Given the description of an element on the screen output the (x, y) to click on. 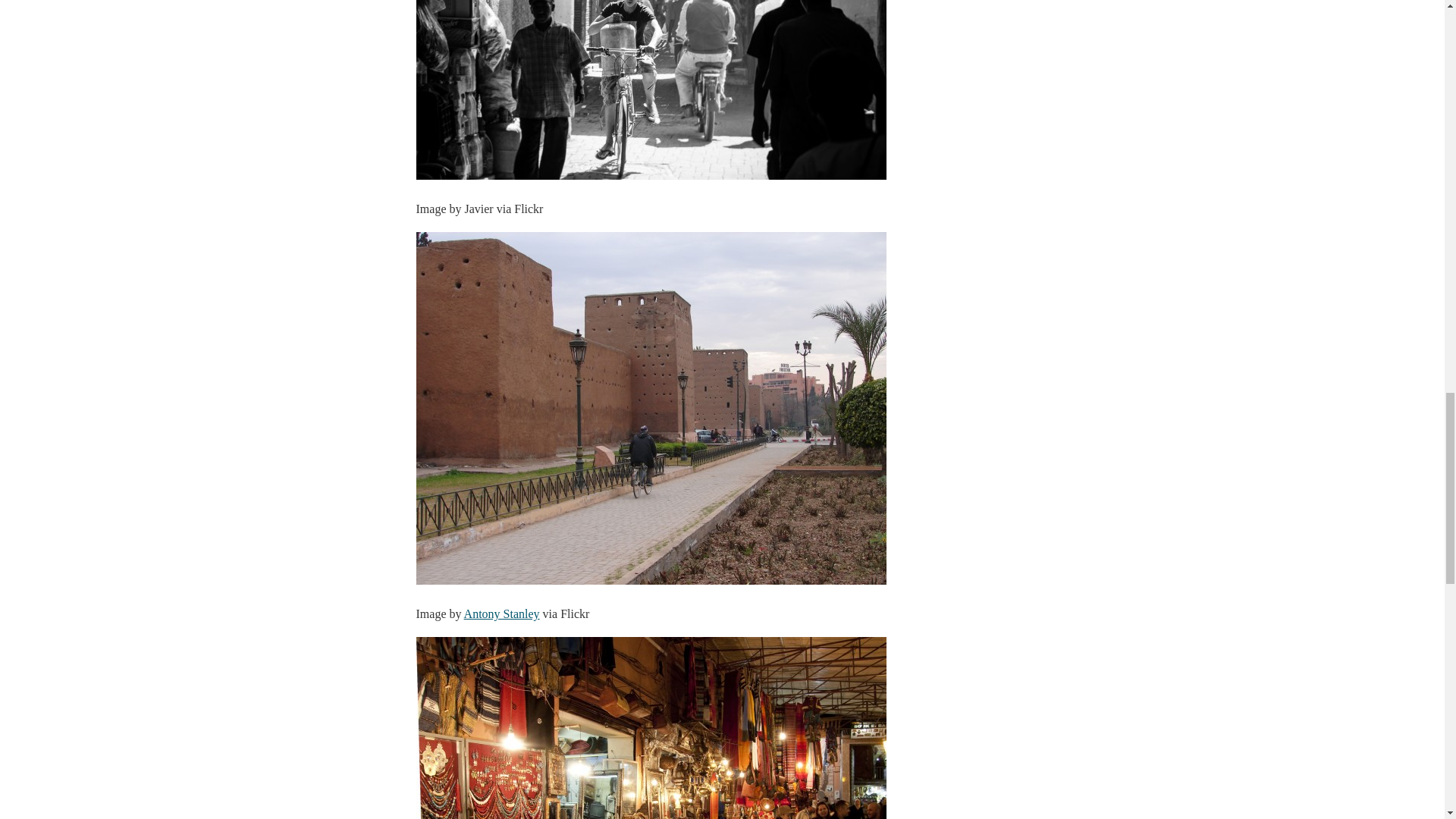
Marrakech - Red City of God (649, 89)
Marrakech - Red City of God (649, 728)
Go to Antony Stanley's photostream (502, 613)
Antony Stanley (502, 613)
